Given the description of an element on the screen output the (x, y) to click on. 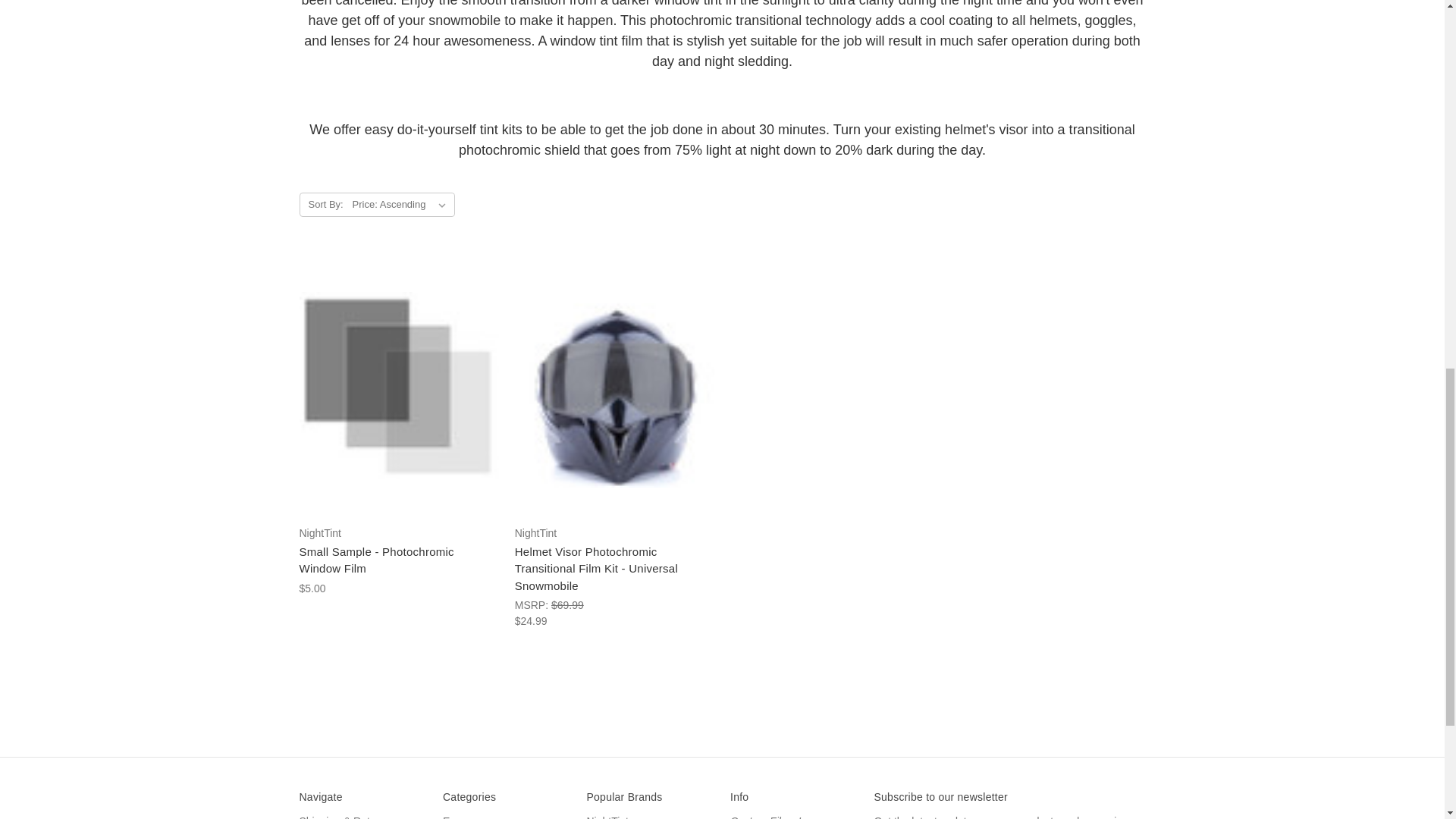
NightTint (607, 816)
Small Sample - Photochromic Window Film (375, 560)
Eyewear (462, 816)
Small Sample - Photochromic Window Film (397, 385)
